Given the description of an element on the screen output the (x, y) to click on. 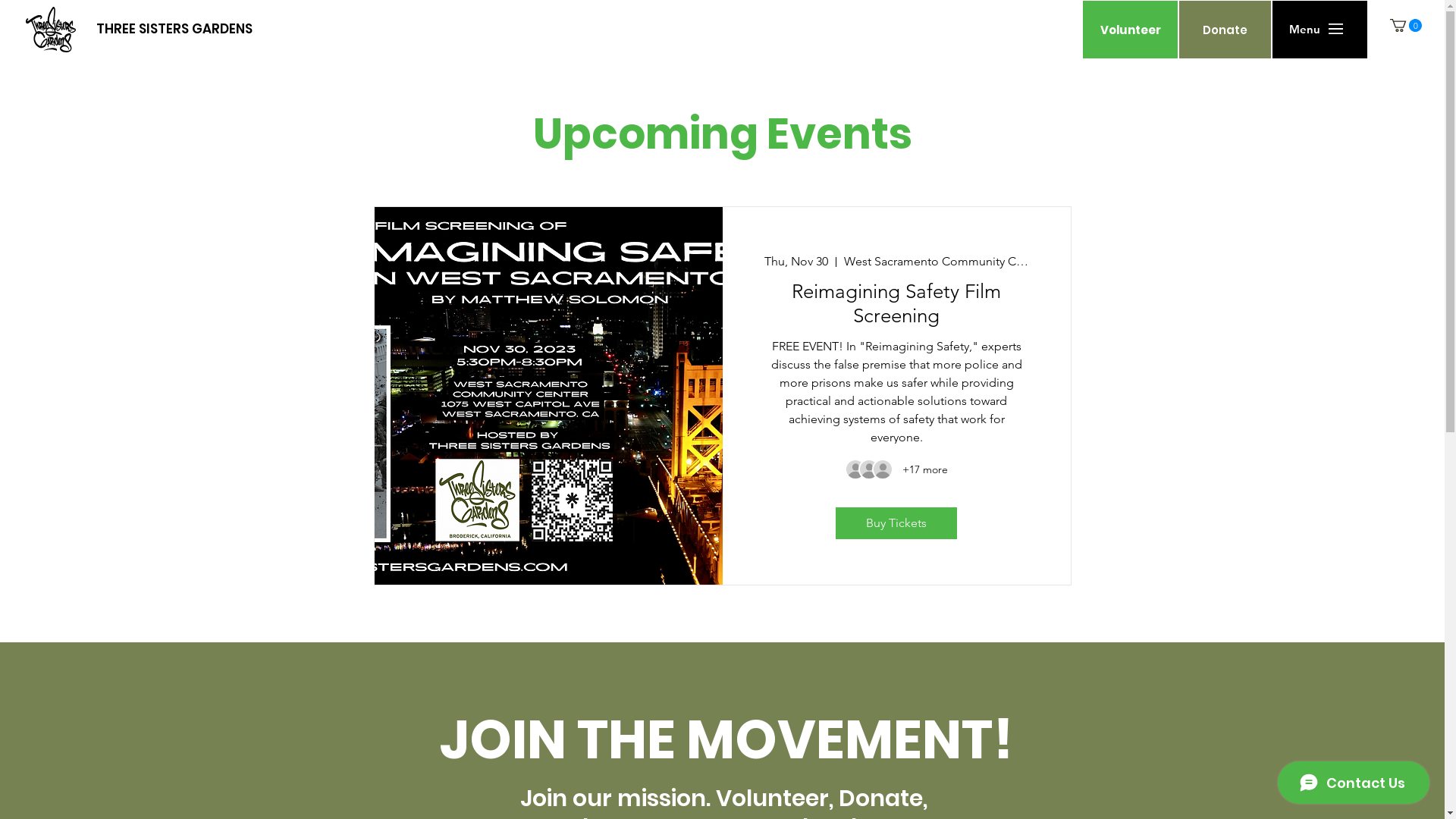
Donate Element type: text (1224, 29)
Reimagining Safety Film Screening Element type: text (896, 302)
Menu Element type: text (1303, 28)
+17 more Element type: text (924, 469)
Volunteer Element type: text (1130, 29)
THREE SISTERS GARDENS Element type: text (174, 29)
0 Element type: text (1405, 24)
Buy Tickets Element type: text (896, 523)
